Given the description of an element on the screen output the (x, y) to click on. 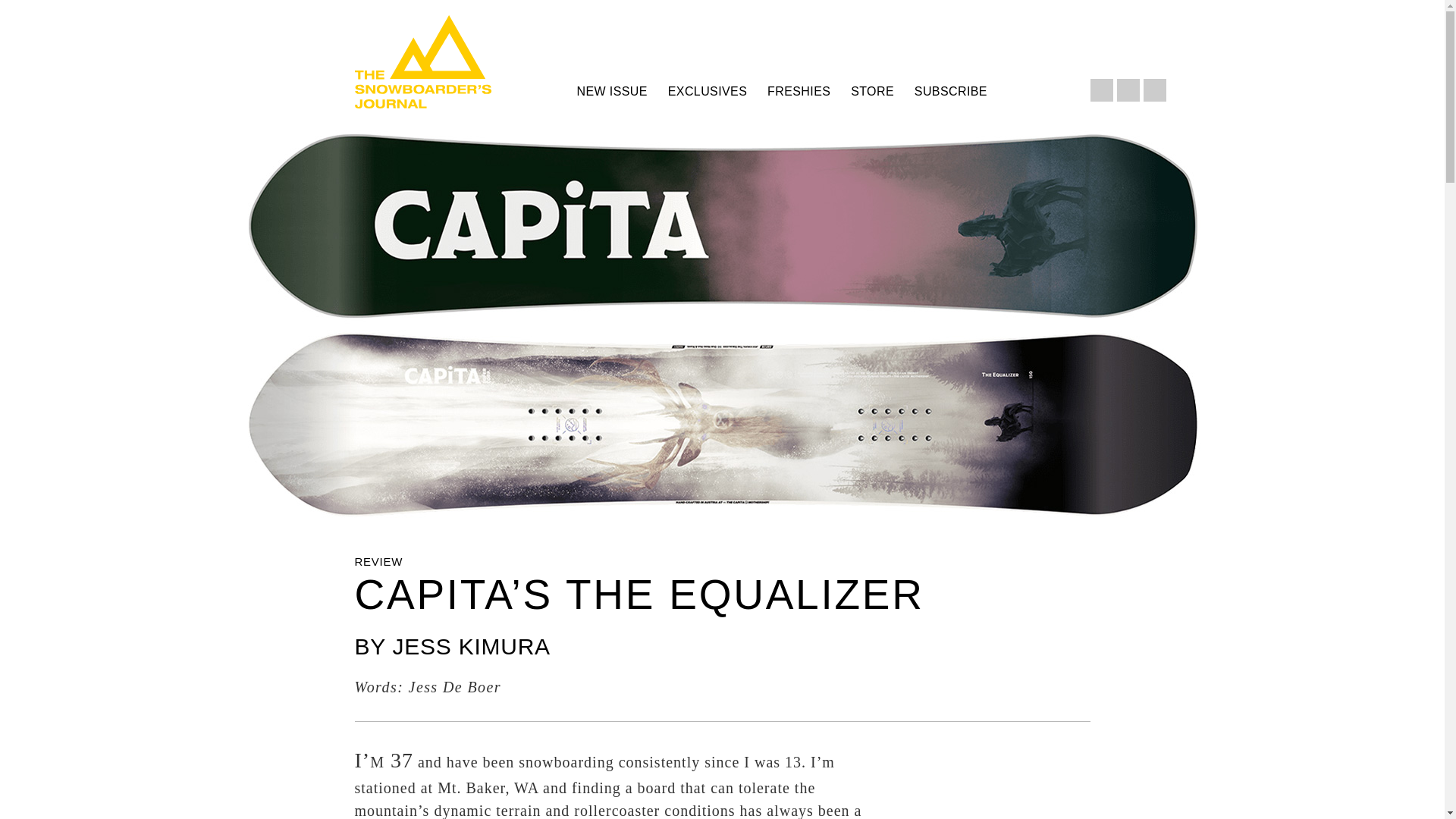
YouTube (1154, 89)
STORE (872, 91)
Instagram (1128, 89)
Facebook (1101, 89)
SUBSCRIBE (950, 91)
FRESHIES (798, 91)
NEW ISSUE (611, 91)
EXCLUSIVES (707, 91)
The Snowboarders Journal (423, 61)
